Given the description of an element on the screen output the (x, y) to click on. 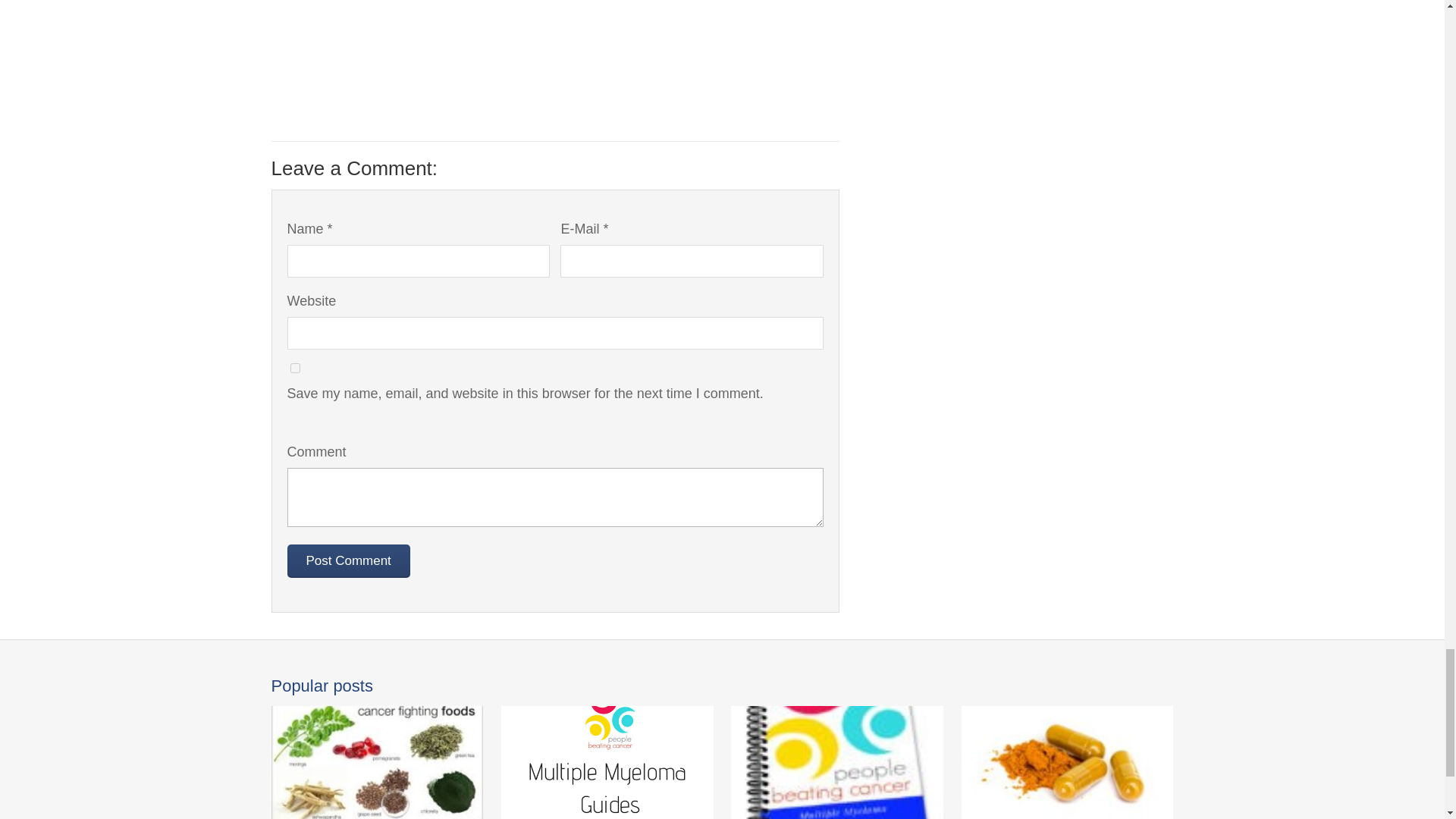
yes (294, 368)
Post Comment (347, 561)
